Given the description of an element on the screen output the (x, y) to click on. 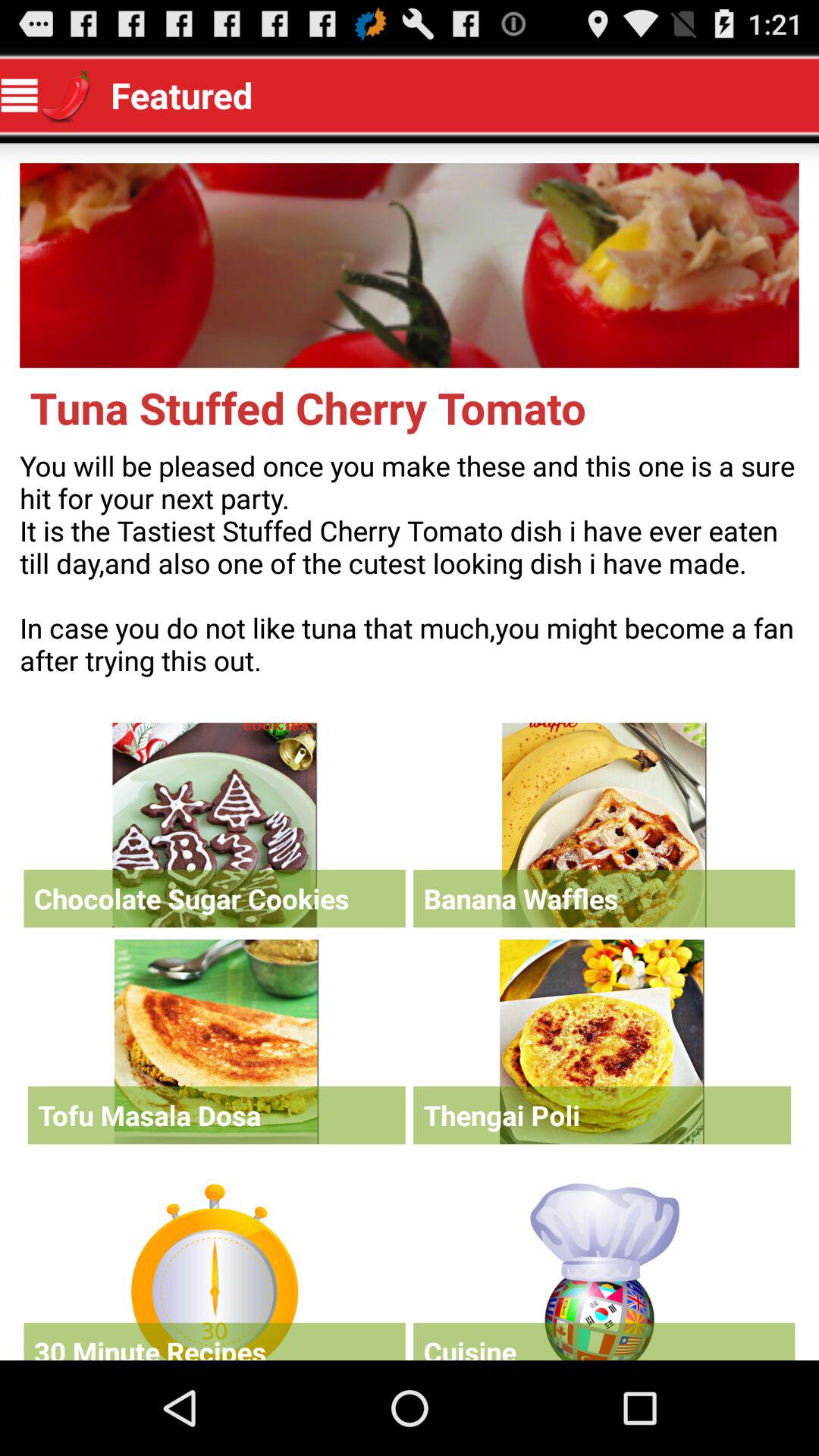
see more information on item (214, 824)
